Given the description of an element on the screen output the (x, y) to click on. 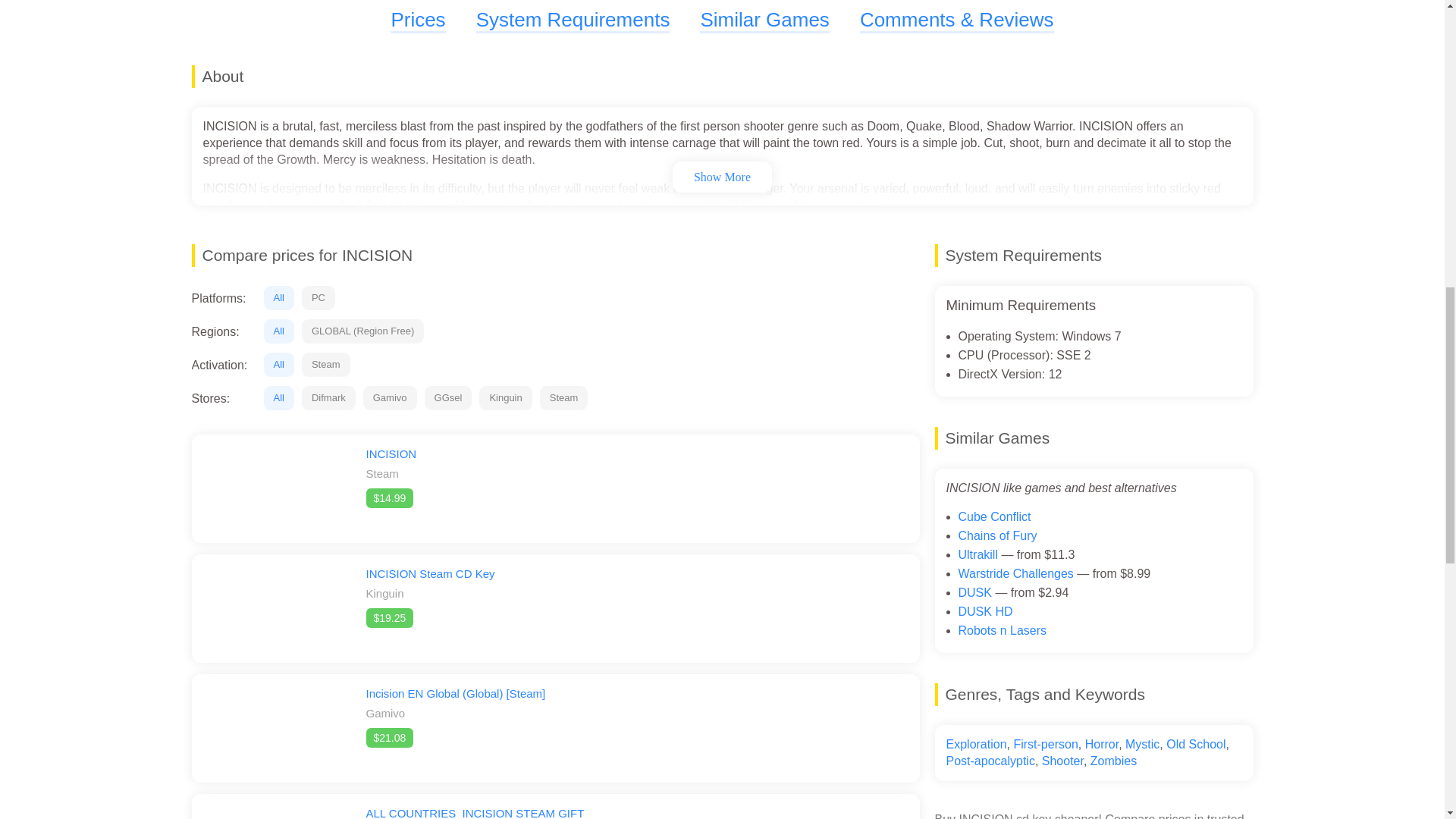
All (278, 331)
PC (317, 297)
All (278, 397)
Gamivo (389, 397)
All (278, 297)
Steam (564, 397)
GGsel (448, 397)
Prices (417, 20)
All (278, 364)
System Requirements (572, 20)
Kinguin (505, 397)
Steam (325, 364)
Difmark (328, 397)
Similar Games (764, 20)
INCISION Steam CD Key (430, 573)
